Given the description of an element on the screen output the (x, y) to click on. 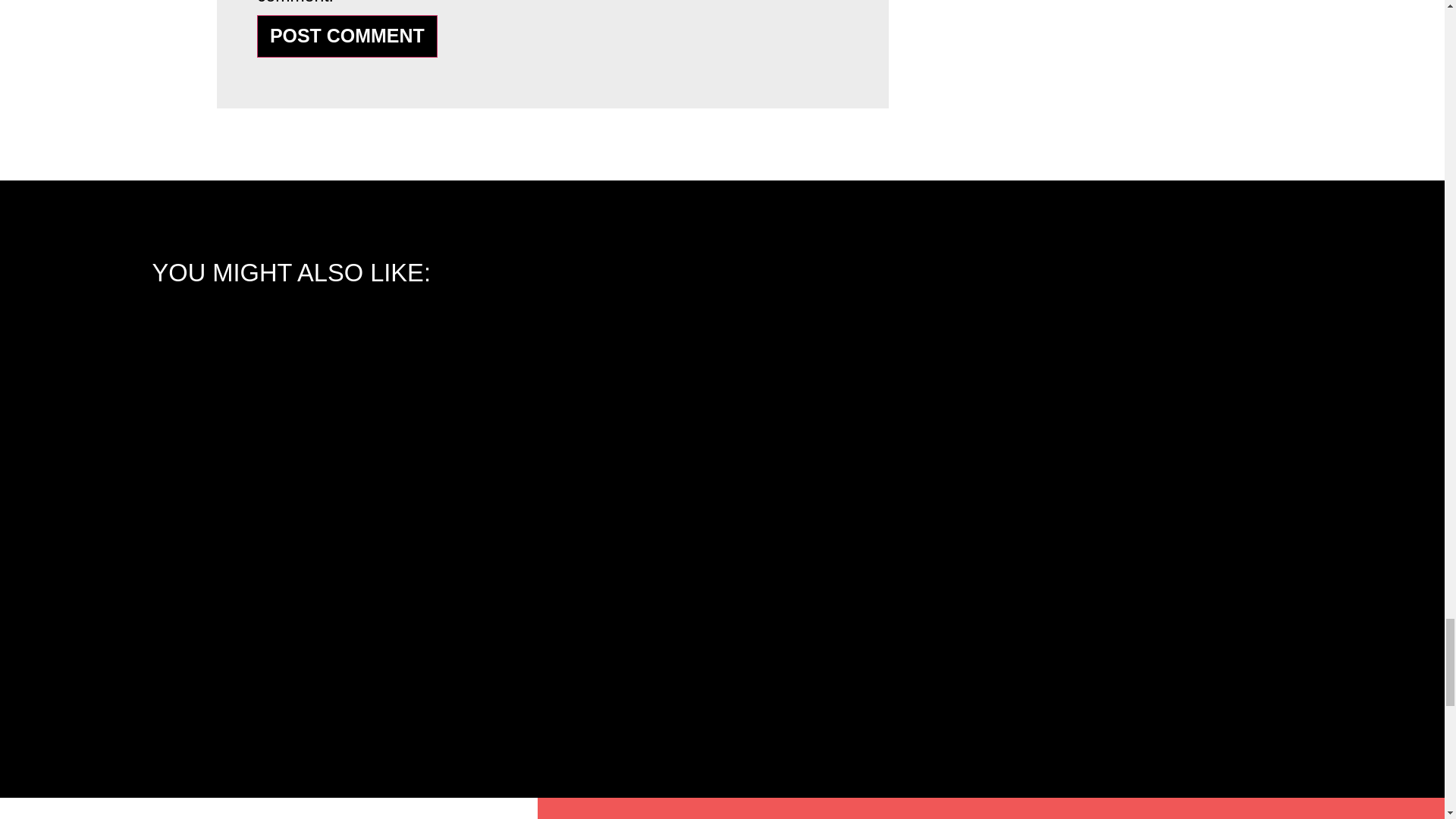
Post Comment (347, 35)
Post Comment (347, 35)
